Given the description of an element on the screen output the (x, y) to click on. 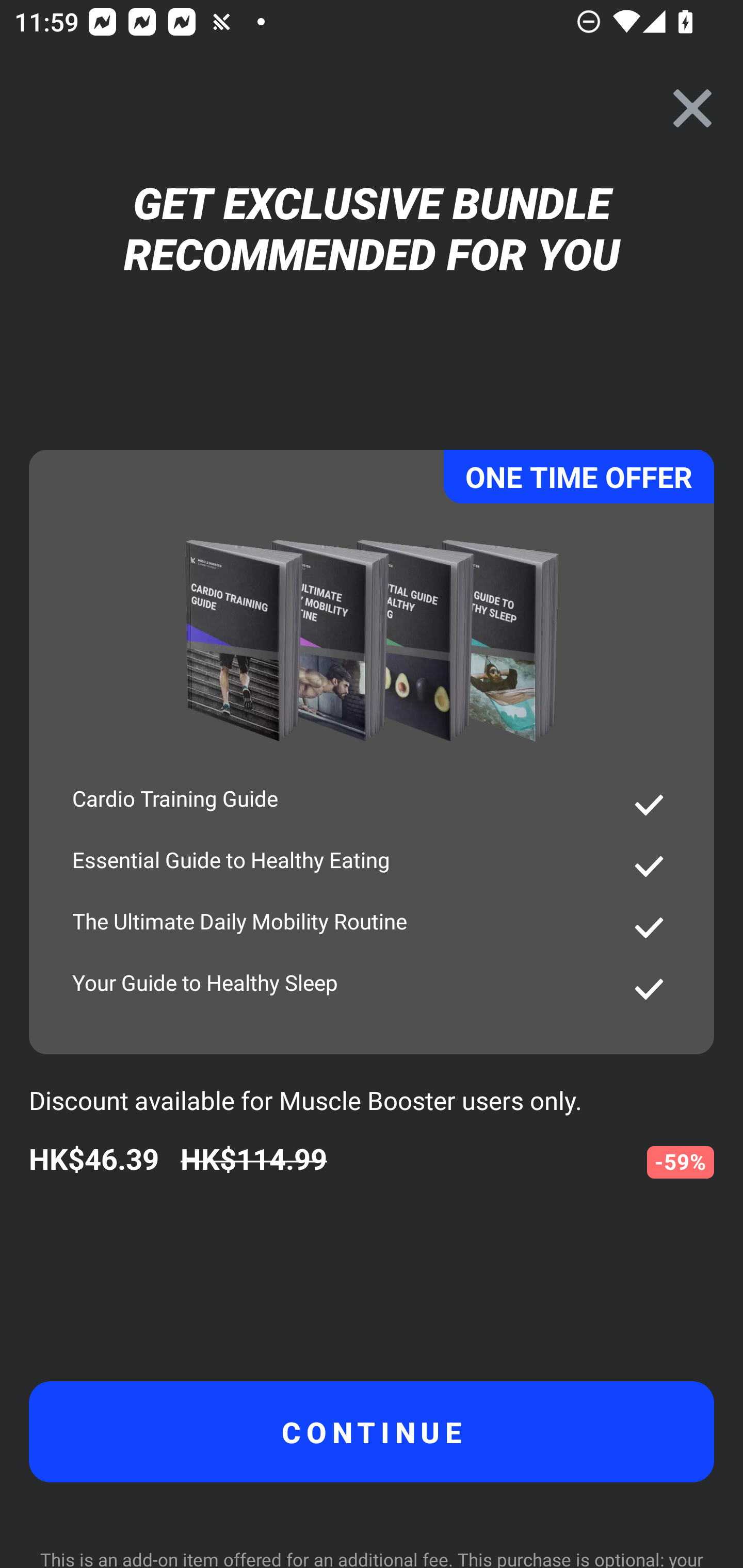
CONTINUE (371, 1431)
